Given the description of an element on the screen output the (x, y) to click on. 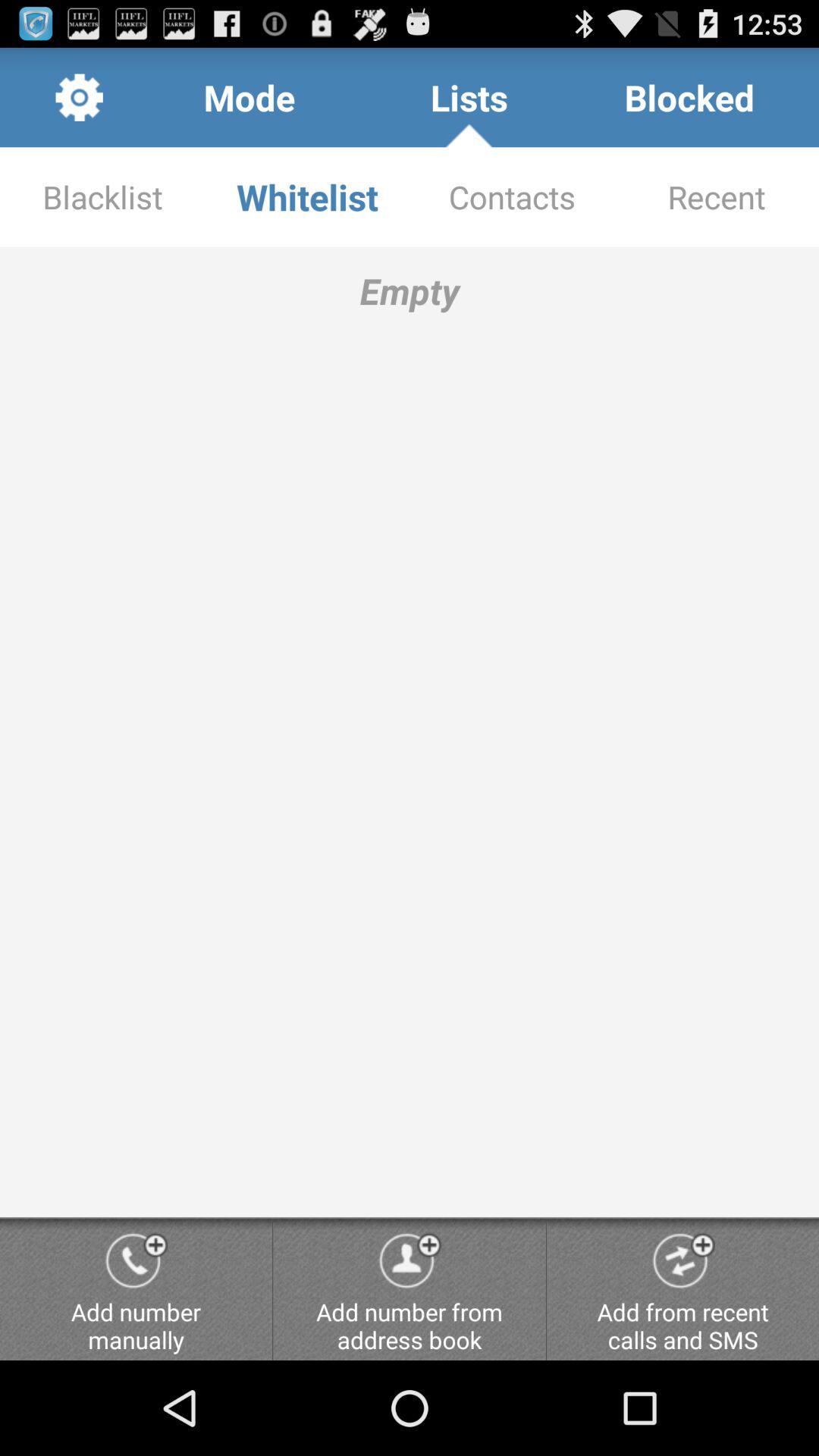
turn off the button above add number
manually item (409, 731)
